Given the description of an element on the screen output the (x, y) to click on. 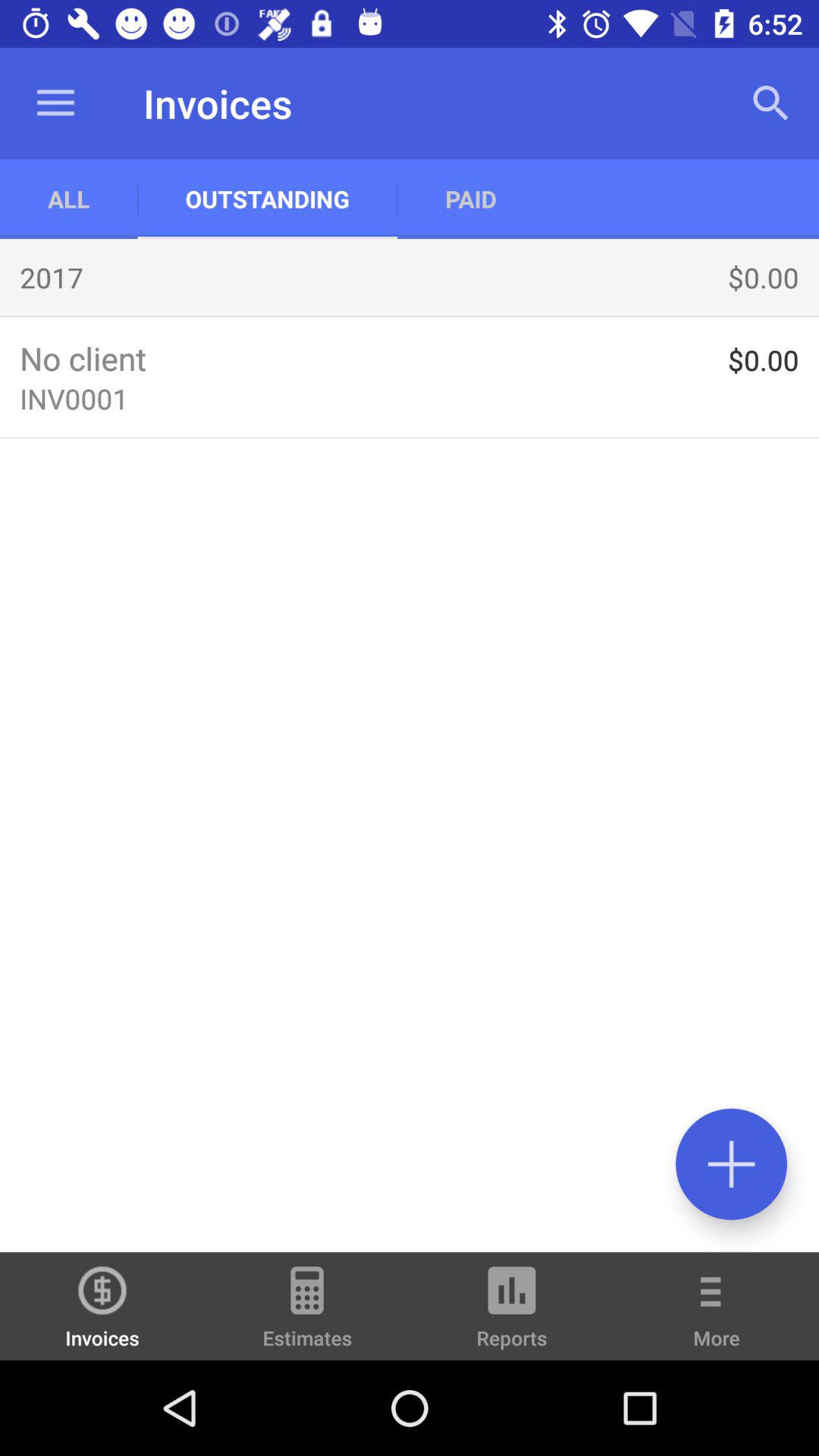
press app to the right of all (267, 198)
